Given the description of an element on the screen output the (x, y) to click on. 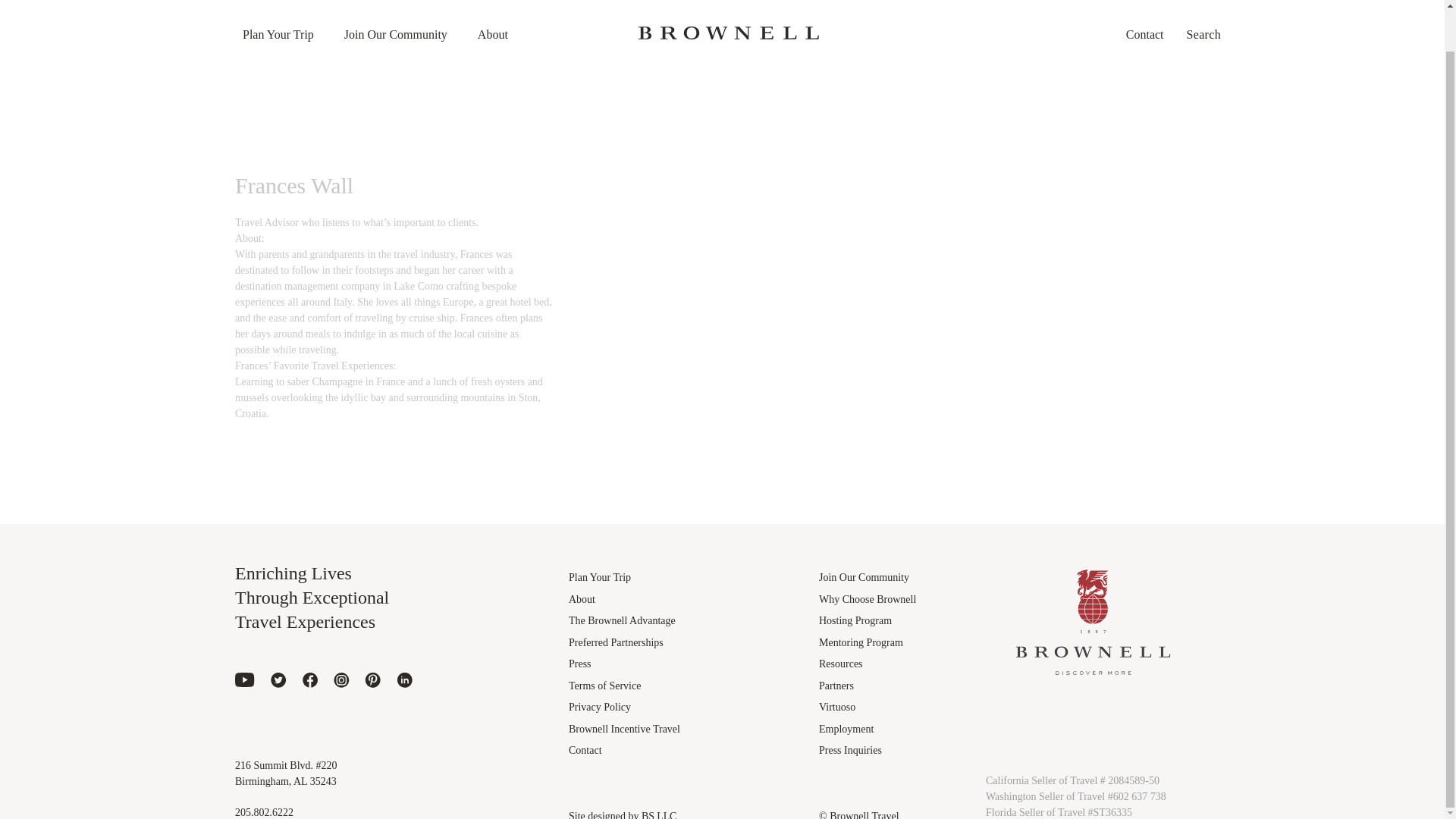
Search (1206, 6)
Join Our Community (395, 12)
About (492, 12)
Plan Your Trip (277, 12)
Contact (1145, 12)
